Given the description of an element on the screen output the (x, y) to click on. 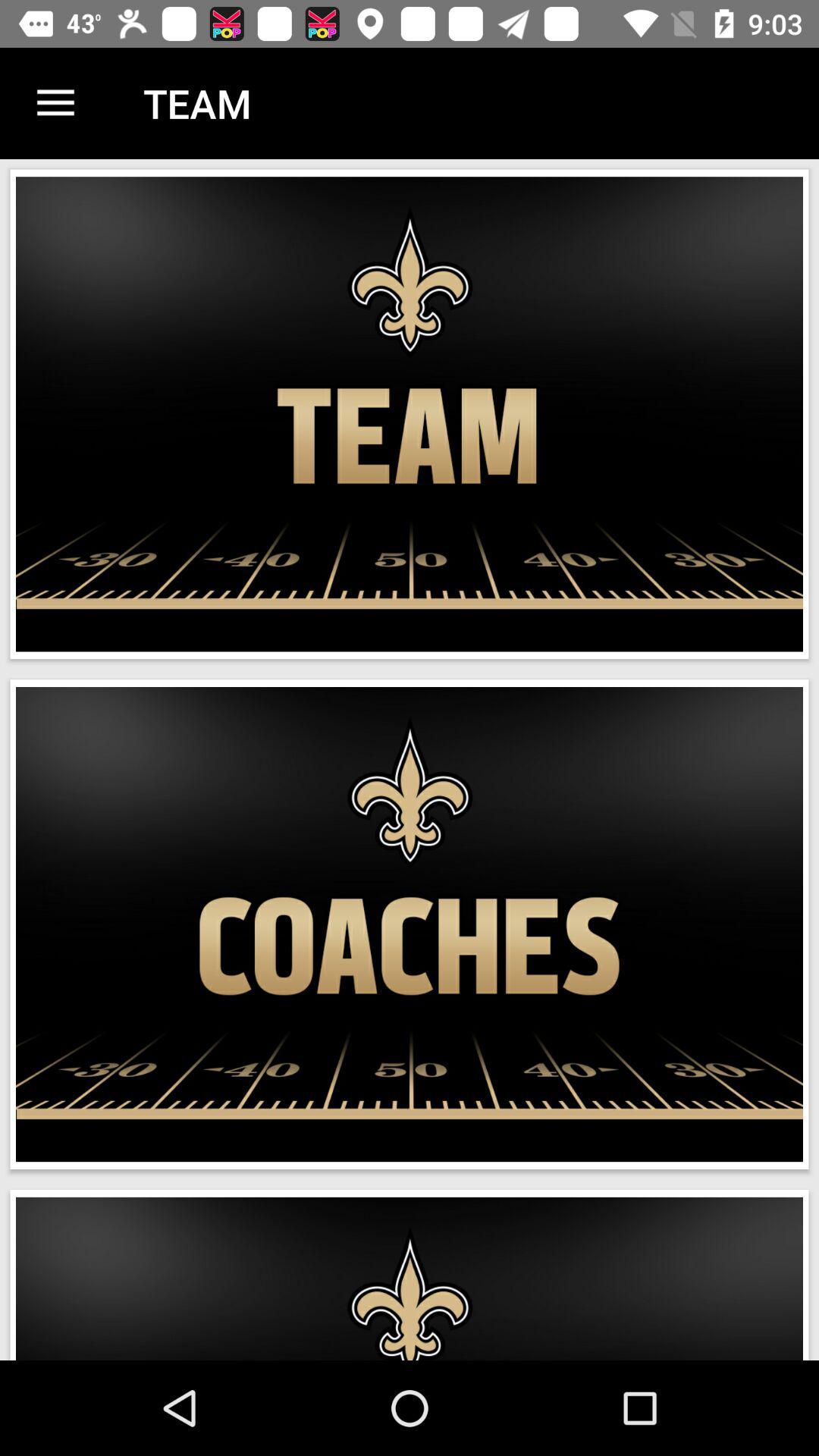
open icon next to team icon (55, 103)
